Given the description of an element on the screen output the (x, y) to click on. 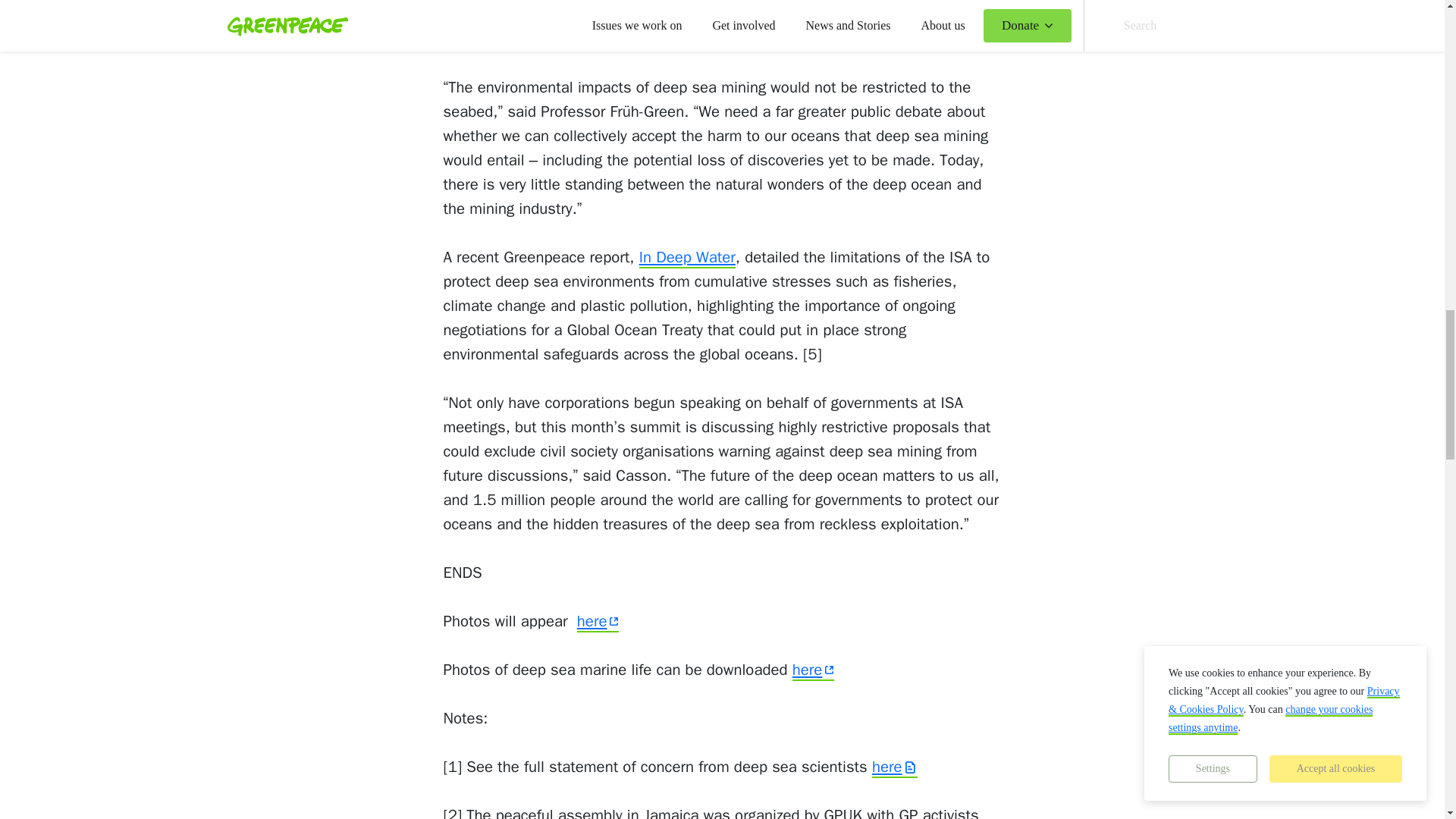
This link will lead you to media.greenpeace.org (813, 670)
This link will lead you to media.greenpeace.org (598, 621)
This link will open a PDF file (894, 767)
